Given the description of an element on the screen output the (x, y) to click on. 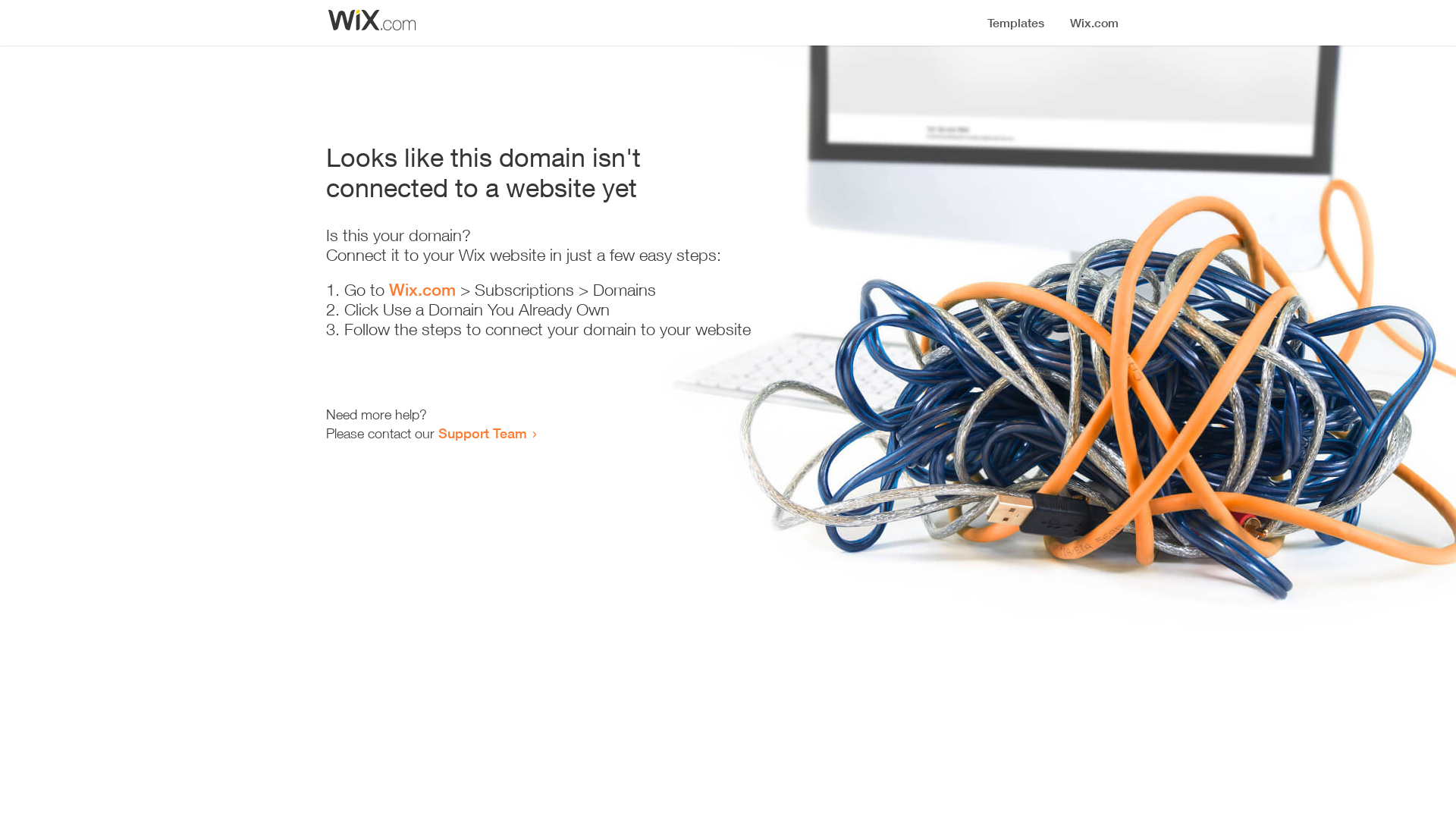
Support Team Element type: text (482, 432)
Wix.com Element type: text (422, 289)
